Given the description of an element on the screen output the (x, y) to click on. 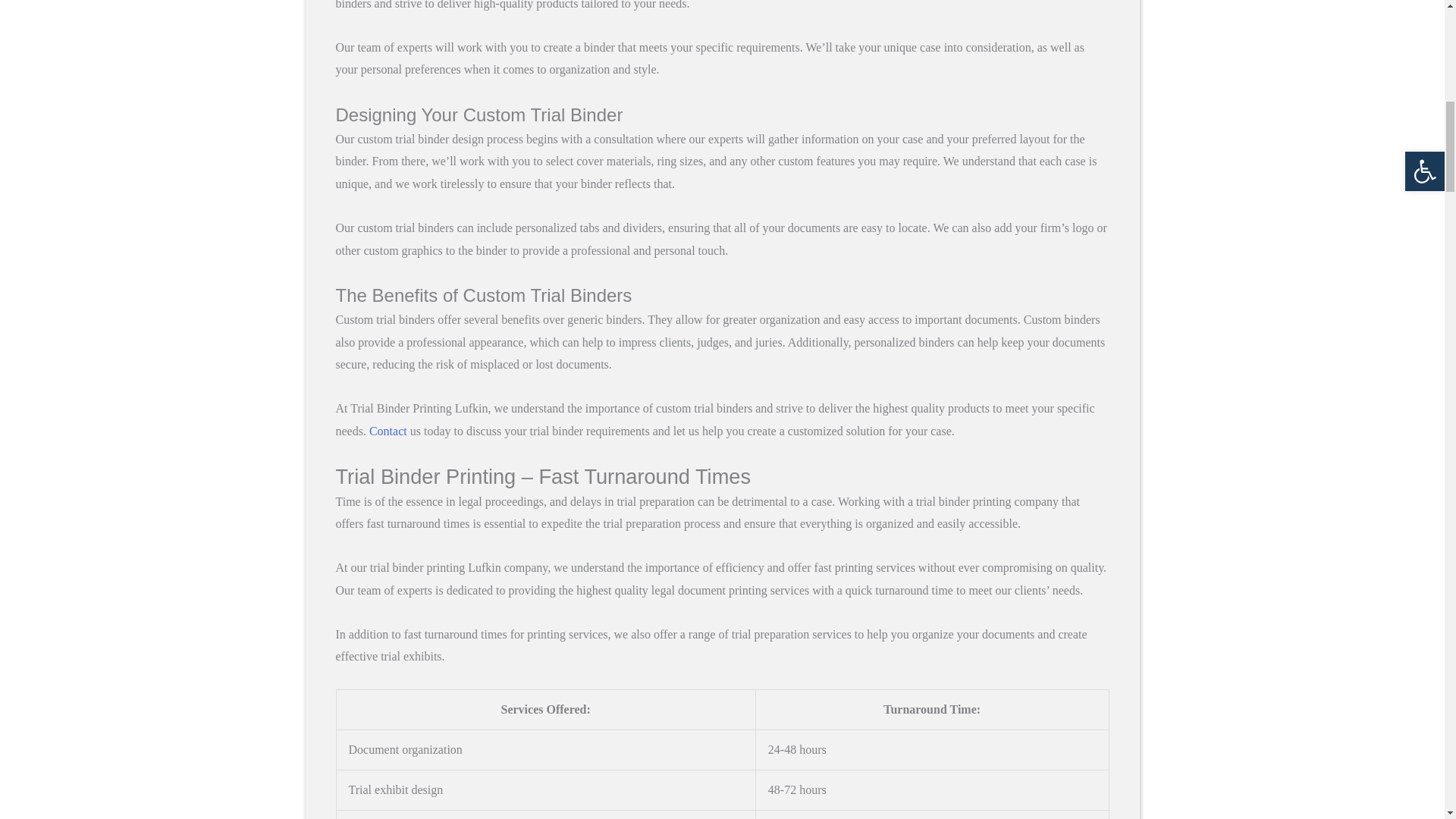
Contact (388, 431)
